Given the description of an element on the screen output the (x, y) to click on. 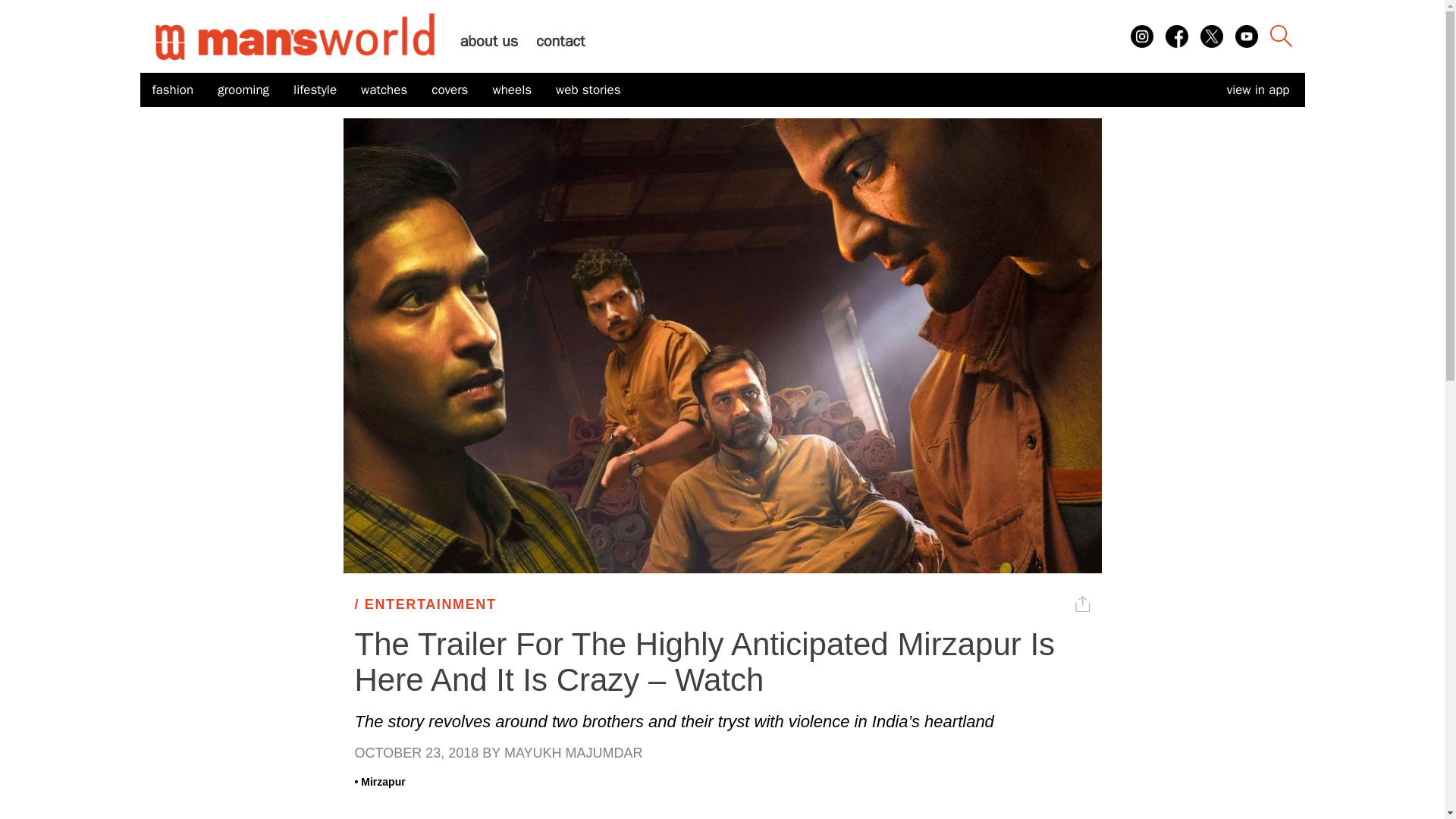
about us (489, 41)
lifestyle (315, 90)
grooming (243, 90)
web stories (588, 90)
view in app (1257, 89)
covers (449, 90)
wheels (511, 90)
contact (560, 41)
fashion (172, 90)
OCTOBER 23, 2018 BY MAYUKH MAJUMDAR (722, 753)
